Given the description of an element on the screen output the (x, y) to click on. 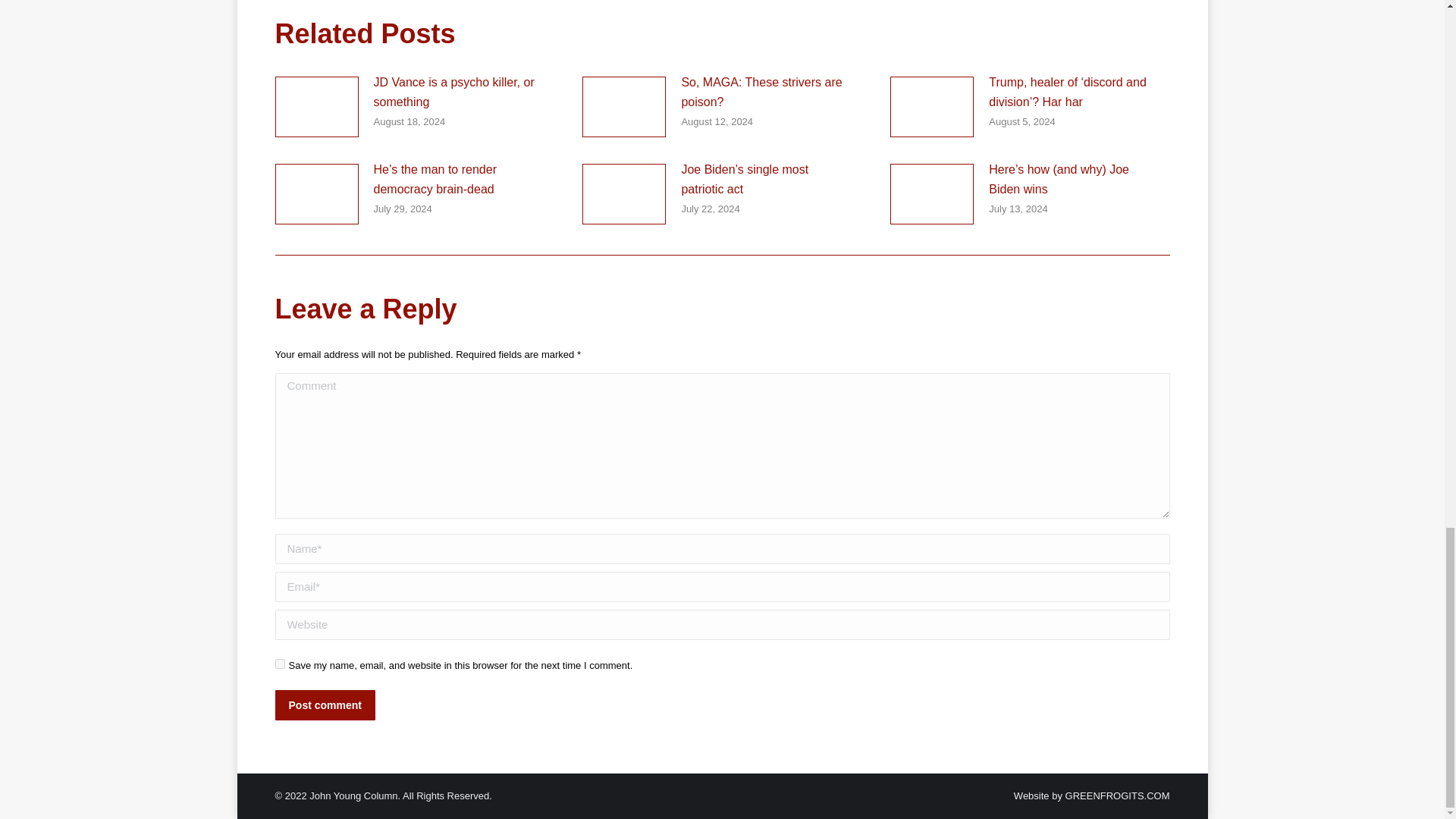
JD Vance is a psycho killer, or something (458, 91)
yes (279, 664)
So, MAGA: These strivers are poison? (766, 91)
